Given the description of an element on the screen output the (x, y) to click on. 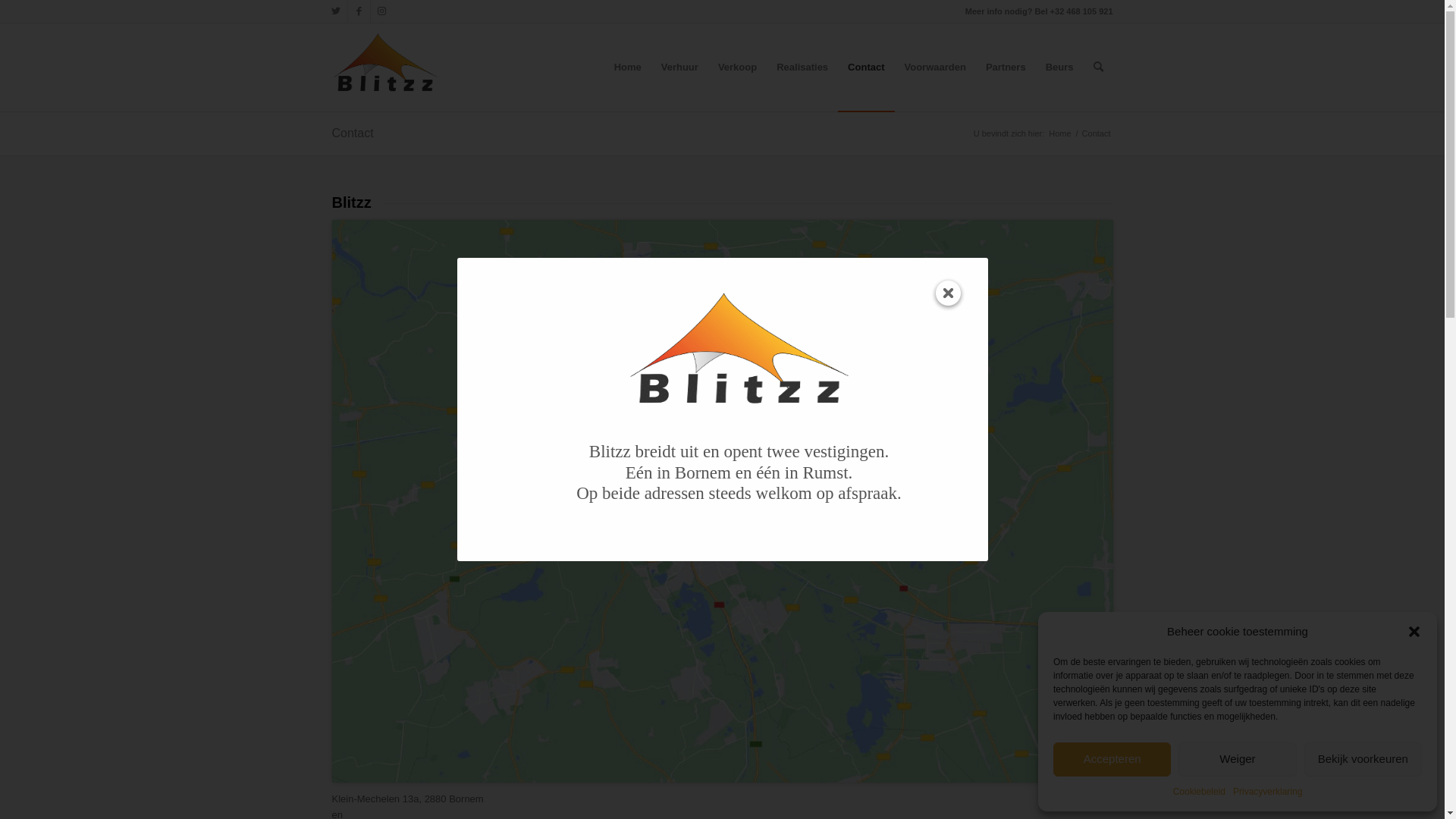
Beurs Element type: text (1059, 67)
Twitter Element type: hover (335, 11)
Privacyverklaring Element type: text (1267, 792)
+32 468 105 921 Element type: text (1081, 10)
Contact Element type: text (865, 67)
Verhuur Element type: text (679, 67)
Instagram Element type: hover (381, 11)
Contact Element type: text (352, 132)
Voorwaarden Element type: text (934, 67)
Logo Blitzz Element type: hover (385, 67)
Cookiebeleid Element type: text (1199, 792)
Verkoop Element type: text (737, 67)
Bekijk voorkeuren Element type: text (1362, 759)
Weiger Element type: text (1236, 759)
Partners Element type: text (1005, 67)
Facebook Element type: hover (358, 11)
Realisaties Element type: text (801, 67)
Accepteren Element type: text (1111, 759)
Home Element type: text (1059, 133)
Home Element type: text (627, 67)
